Given the description of an element on the screen output the (x, y) to click on. 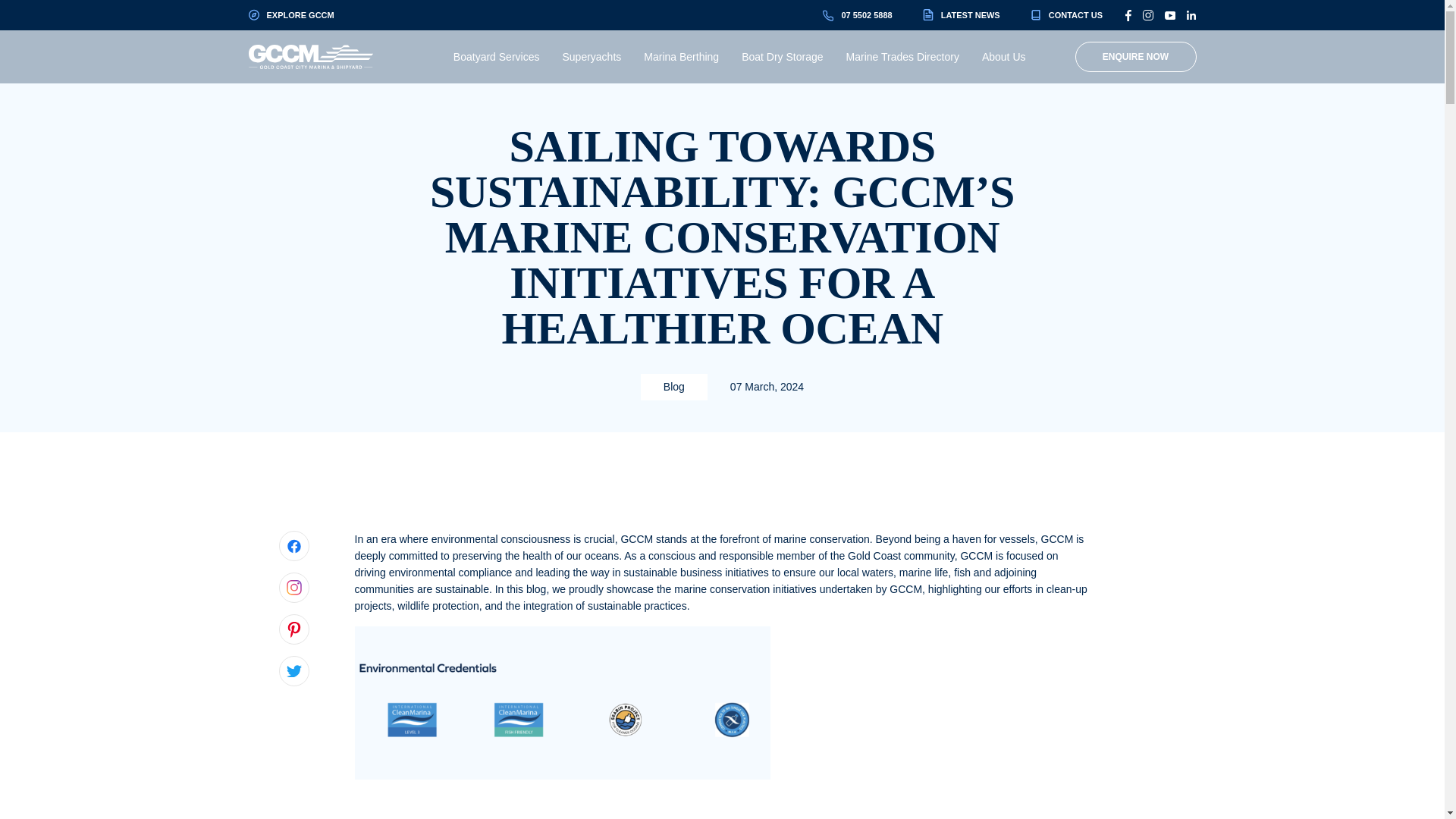
LATEST NEWS (961, 14)
07 5502 5888 (856, 14)
07 5502 5888 (856, 14)
Contact Us (1066, 14)
Superyachts (591, 56)
Explore GCCM (291, 14)
Latest News (961, 14)
Marina Berthing (681, 56)
EXPLORE GCCM (291, 14)
Boatyard Services (496, 56)
CONTACT US (1066, 14)
